Given the description of an element on the screen output the (x, y) to click on. 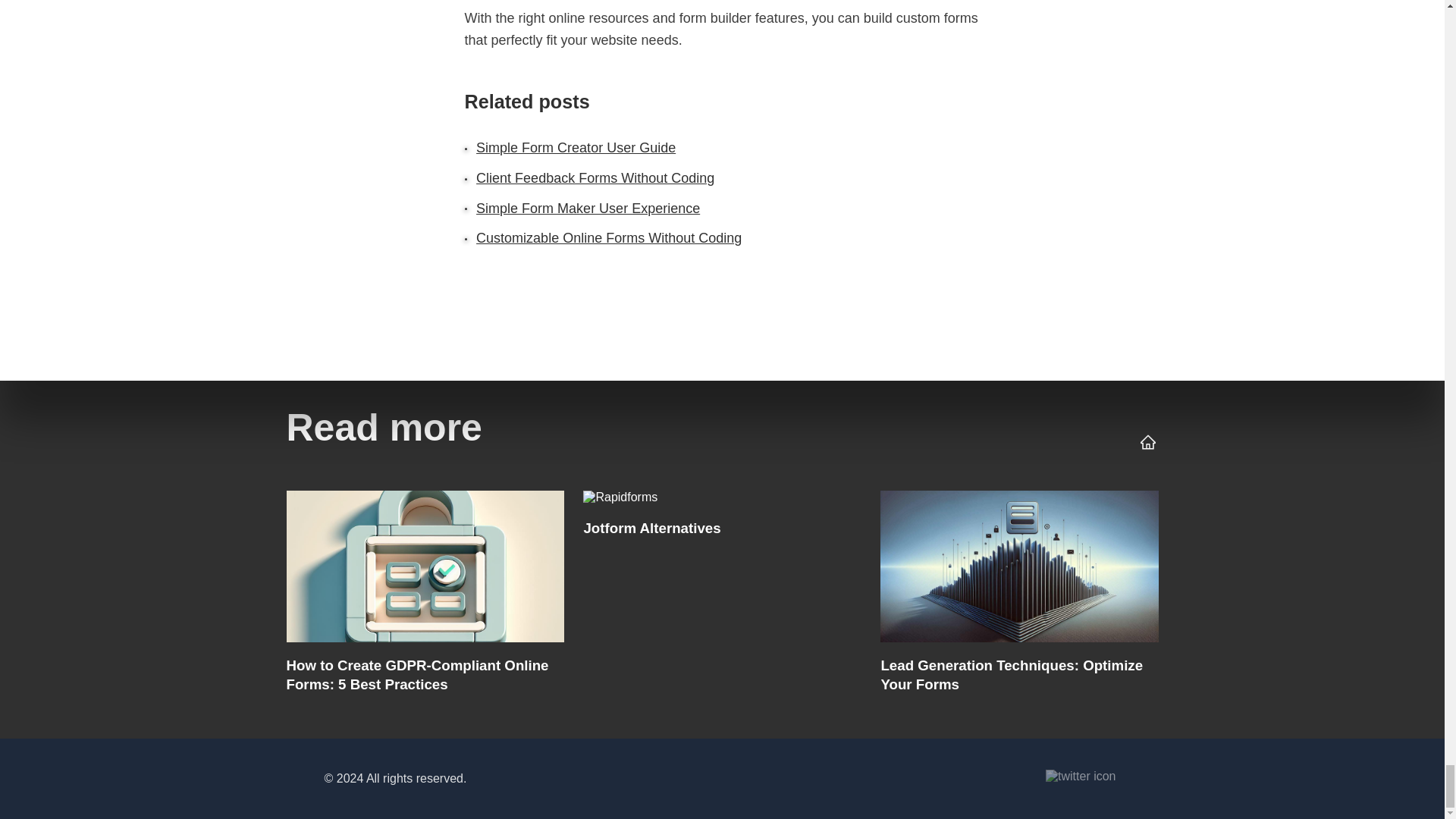
Simple Form Maker User Experience (588, 208)
Lead Generation Techniques: Optimize Your Forms (1019, 595)
Client Feedback Forms Without Coding (595, 177)
How to Create GDPR-Compliant Online Forms: 5 Best Practices (425, 595)
Simple Form Creator User Guide (575, 147)
Jotform Alternatives (721, 595)
Customizable Online Forms Without Coding (608, 237)
